Given the description of an element on the screen output the (x, y) to click on. 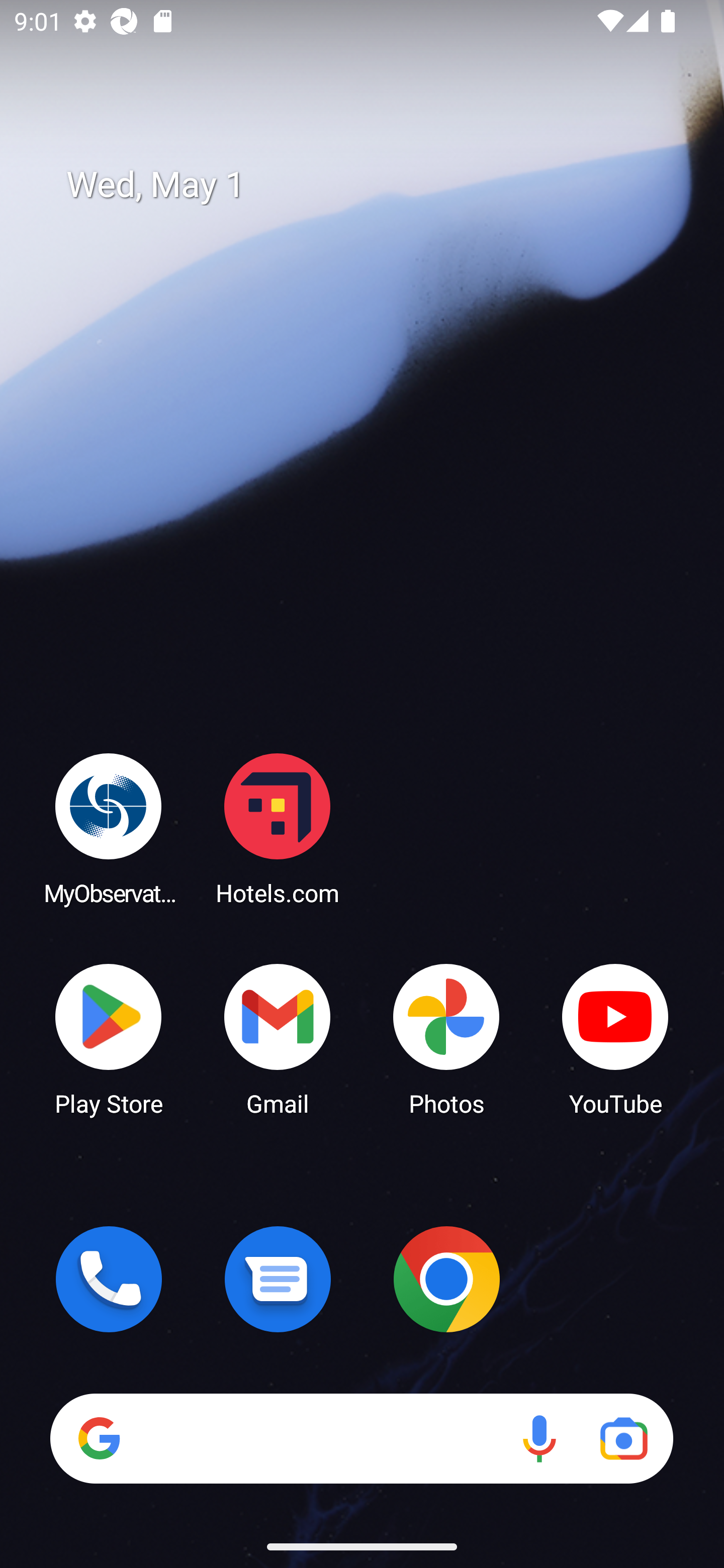
Wed, May 1 (375, 184)
MyObservatory (108, 828)
Hotels.com (277, 828)
Play Store (108, 1038)
Gmail (277, 1038)
Photos (445, 1038)
YouTube (615, 1038)
Phone (108, 1279)
Messages (277, 1279)
Chrome (446, 1279)
Search Voice search Google Lens (361, 1438)
Voice search (539, 1438)
Google Lens (623, 1438)
